Given the description of an element on the screen output the (x, y) to click on. 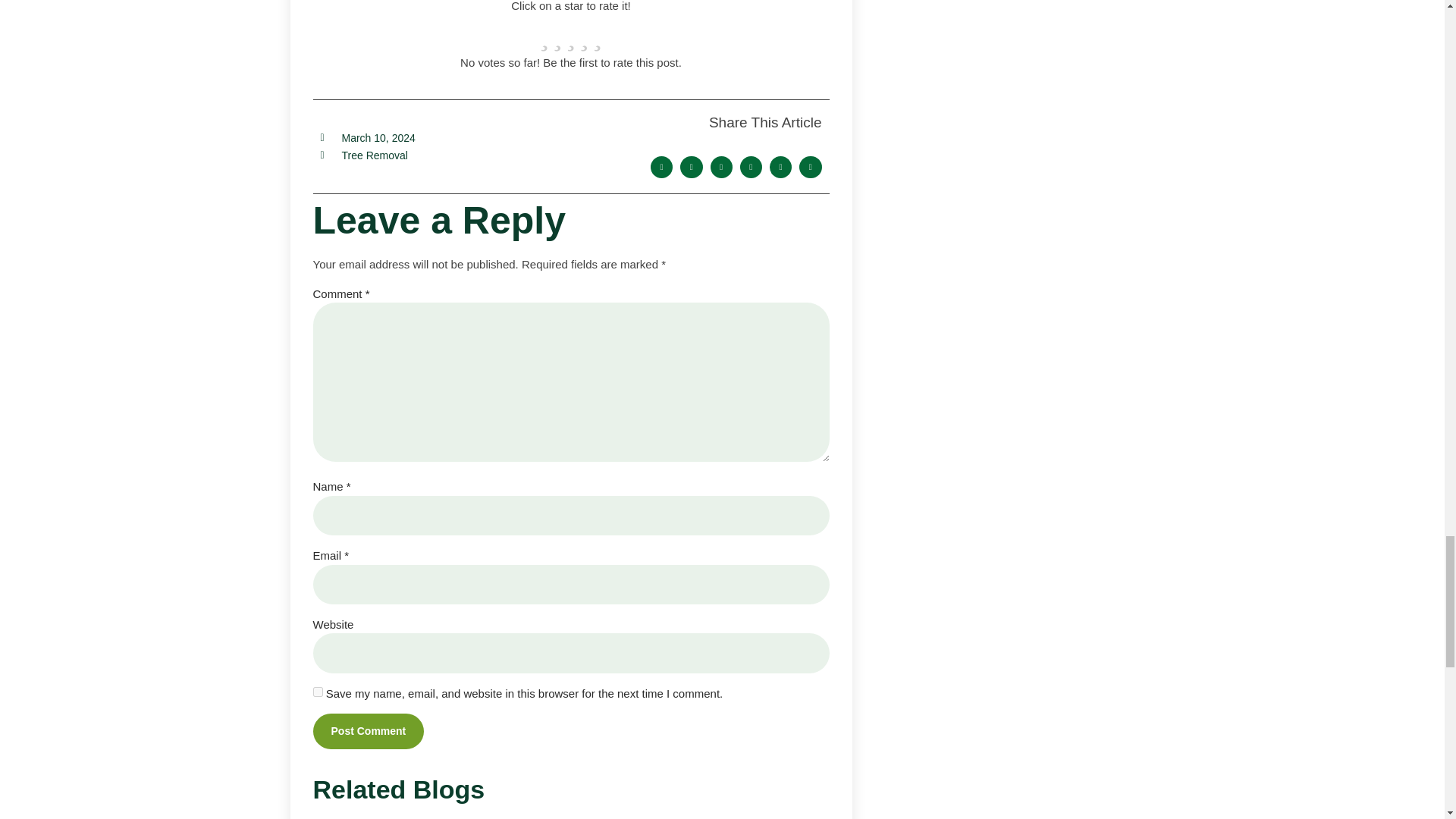
yes (317, 691)
Tree Removal (373, 154)
March 10, 2024 (367, 138)
Post Comment (368, 731)
Post Comment (368, 731)
